Given the description of an element on the screen output the (x, y) to click on. 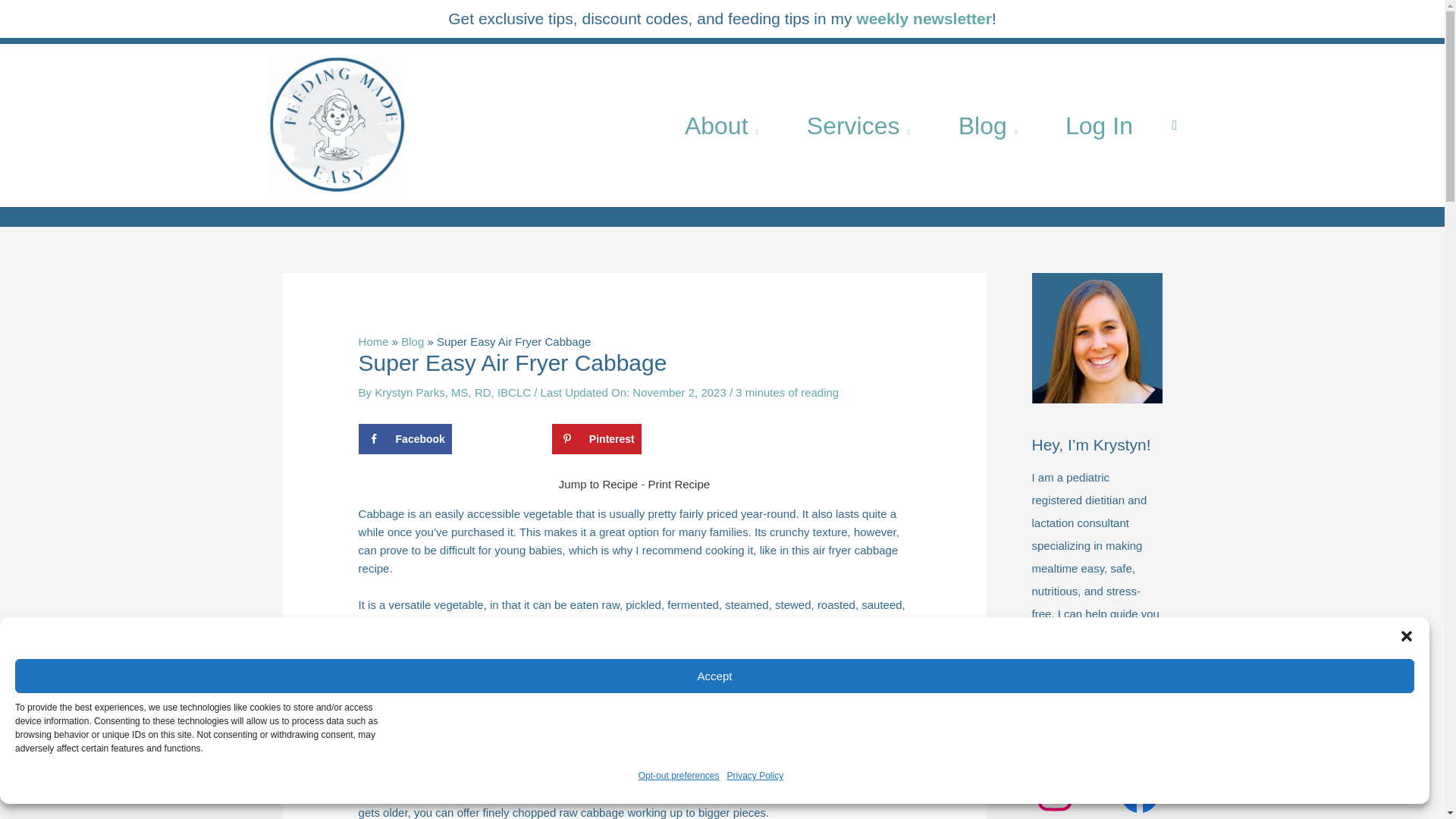
Share on X (501, 439)
Opt-out preferences (679, 775)
Log In (1099, 124)
Share on Facebook (404, 439)
Services (858, 124)
weekly newsletter (923, 18)
About (722, 124)
Accept (713, 675)
Save to Pinterest (596, 439)
View all posts by Krystyn Parks, MS, RD, IBCLC (454, 391)
Privacy Policy (755, 775)
Blog (987, 124)
